Given the description of an element on the screen output the (x, y) to click on. 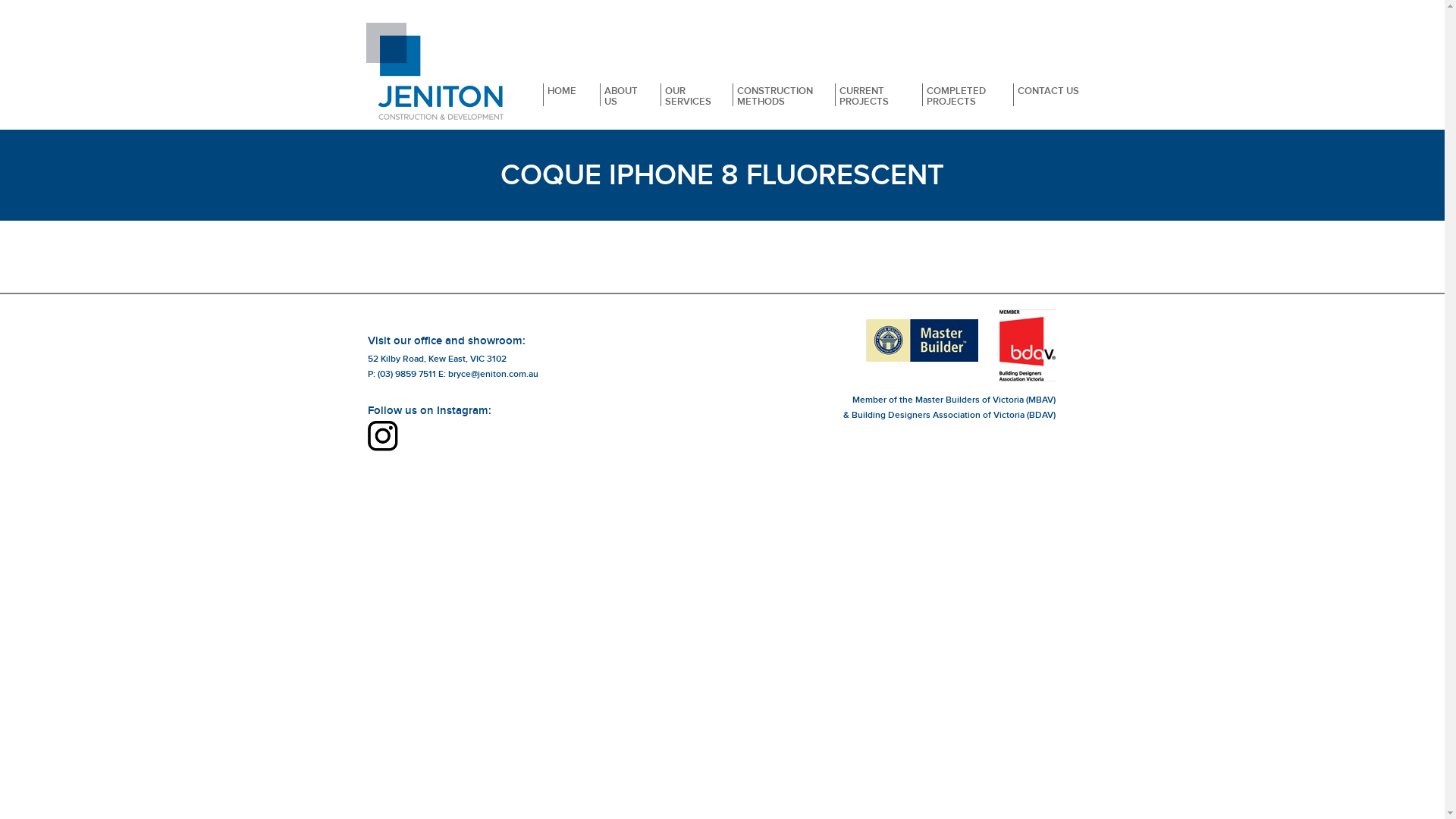
CONTACT US Element type: text (1048, 89)
COMPLETED PROJECTS Element type: text (956, 89)
OUR SERVICES Element type: text (684, 89)
CONSTRUCTION METHODS Element type: text (772, 89)
ABOUT US Element type: text (618, 89)
bryce@jeniton.com.au Element type: text (493, 373)
HOME Element type: text (560, 89)
CURRENT PROJECTS Element type: text (866, 89)
